Given the description of an element on the screen output the (x, y) to click on. 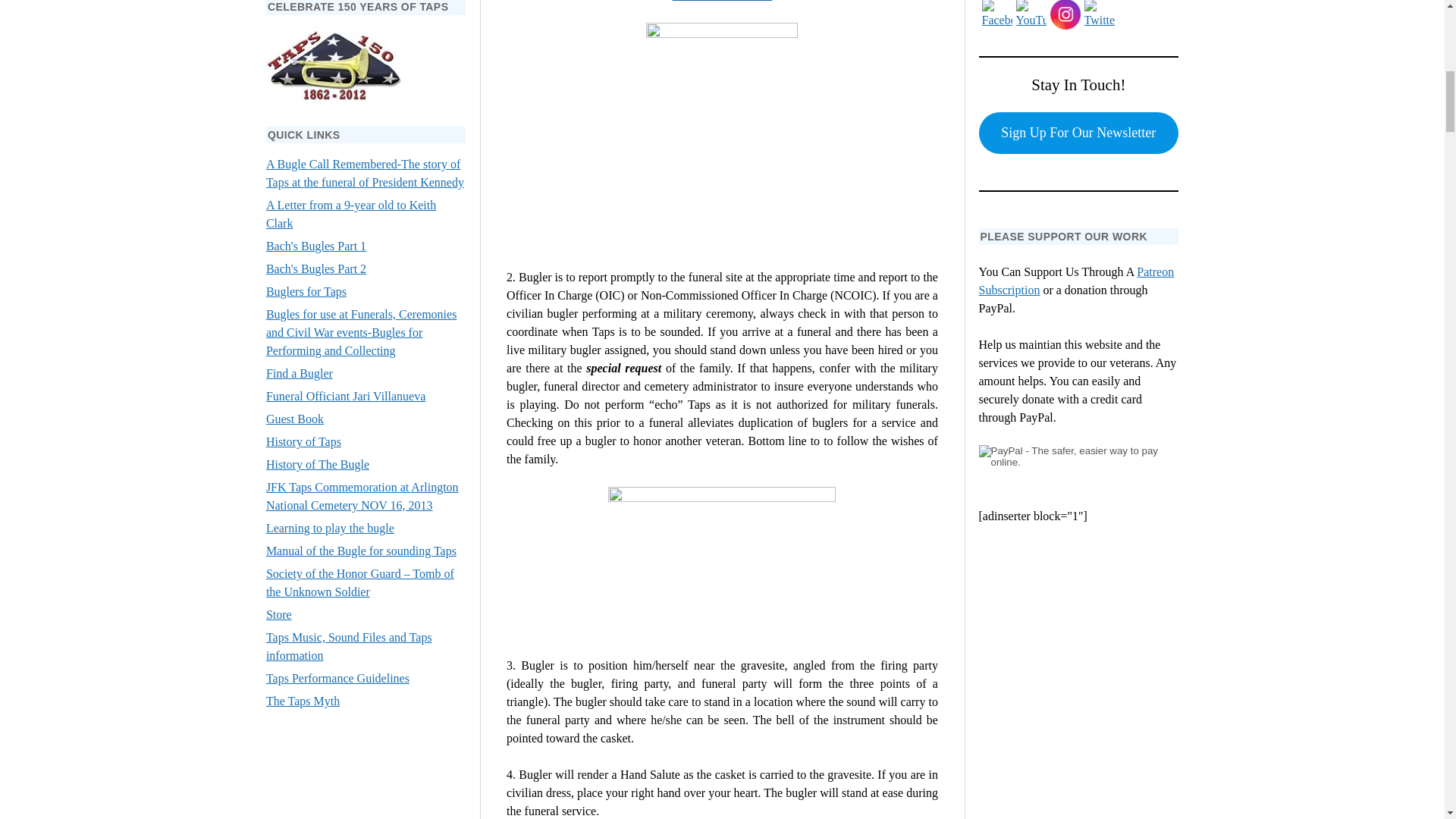
Find a Bugler (299, 373)
Bach's Bugles Part 1 (316, 245)
History of Taps (303, 440)
Funeral Officiant Jari Villanueva (345, 395)
Buglers for Taps (306, 291)
Guest Book (294, 418)
A Letter from a 9-year old to Keith Clark (350, 214)
